Given the description of an element on the screen output the (x, y) to click on. 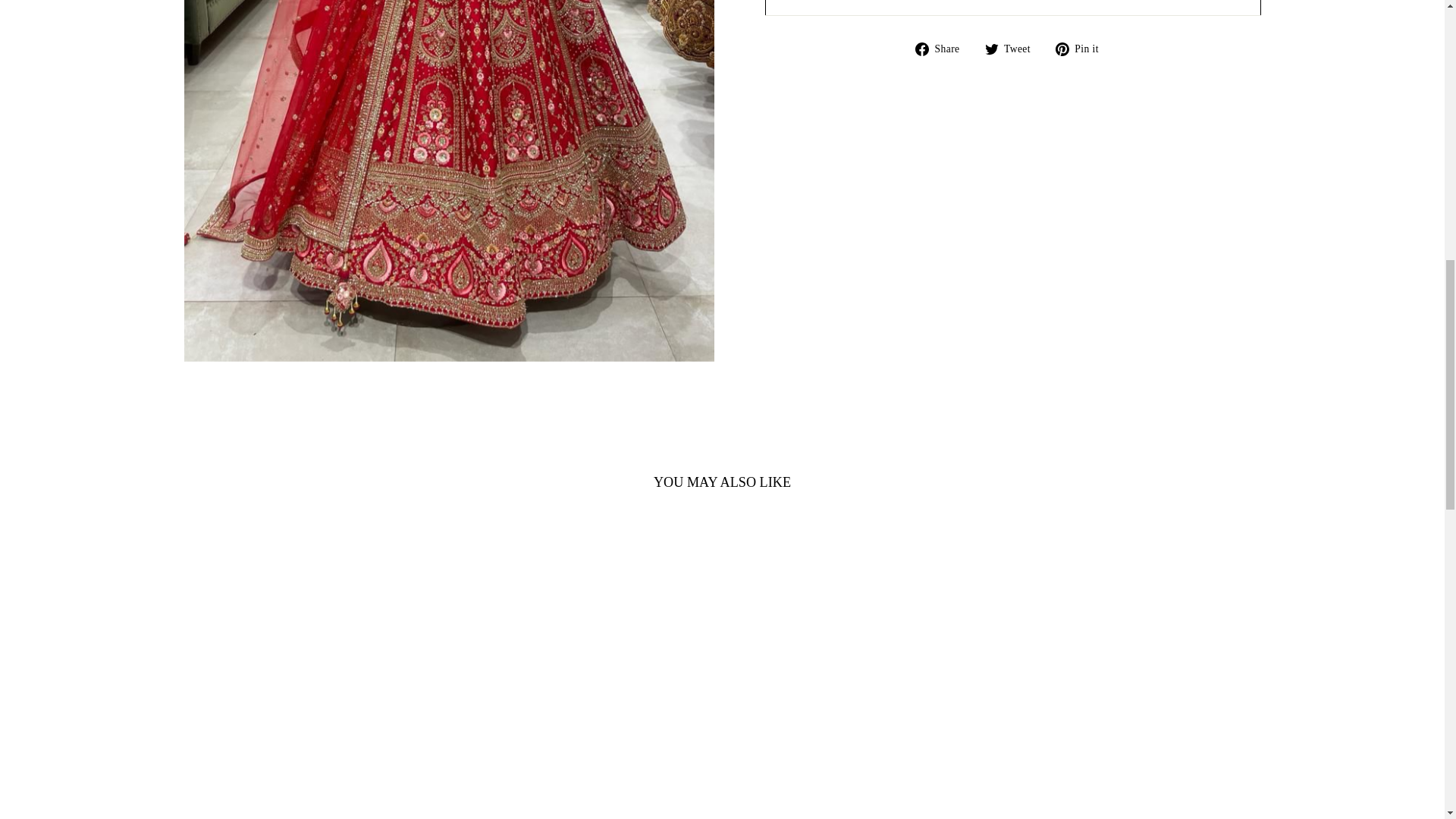
Tweet on Twitter (1013, 48)
Pin on Pinterest (1082, 48)
Share on Facebook (943, 48)
twitter (991, 49)
